Given the description of an element on the screen output the (x, y) to click on. 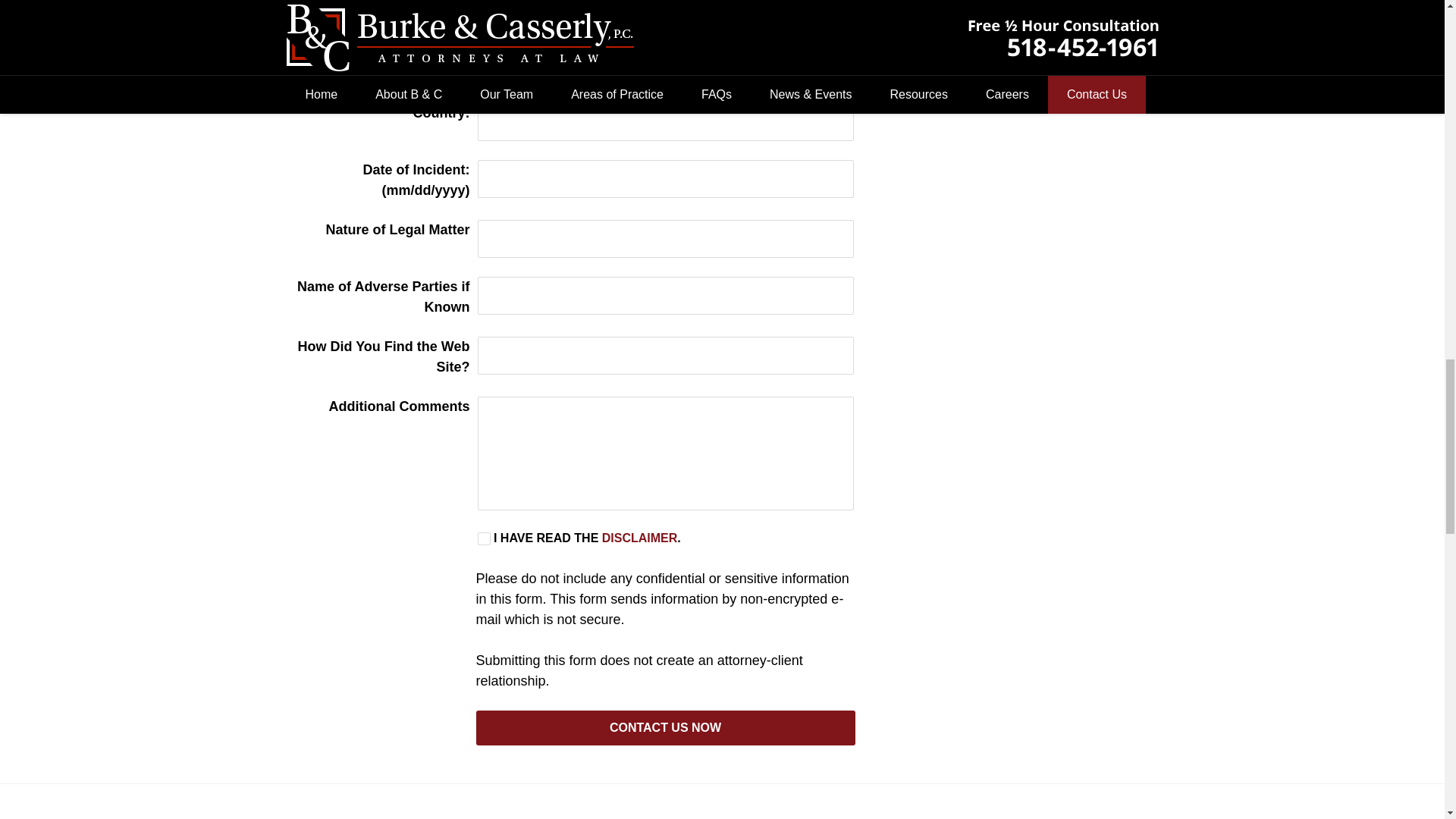
Contact Us Now (666, 727)
I have read the disclaimer (483, 538)
Contact Us Now (666, 727)
DISCLAIMER (640, 537)
